Given the description of an element on the screen output the (x, y) to click on. 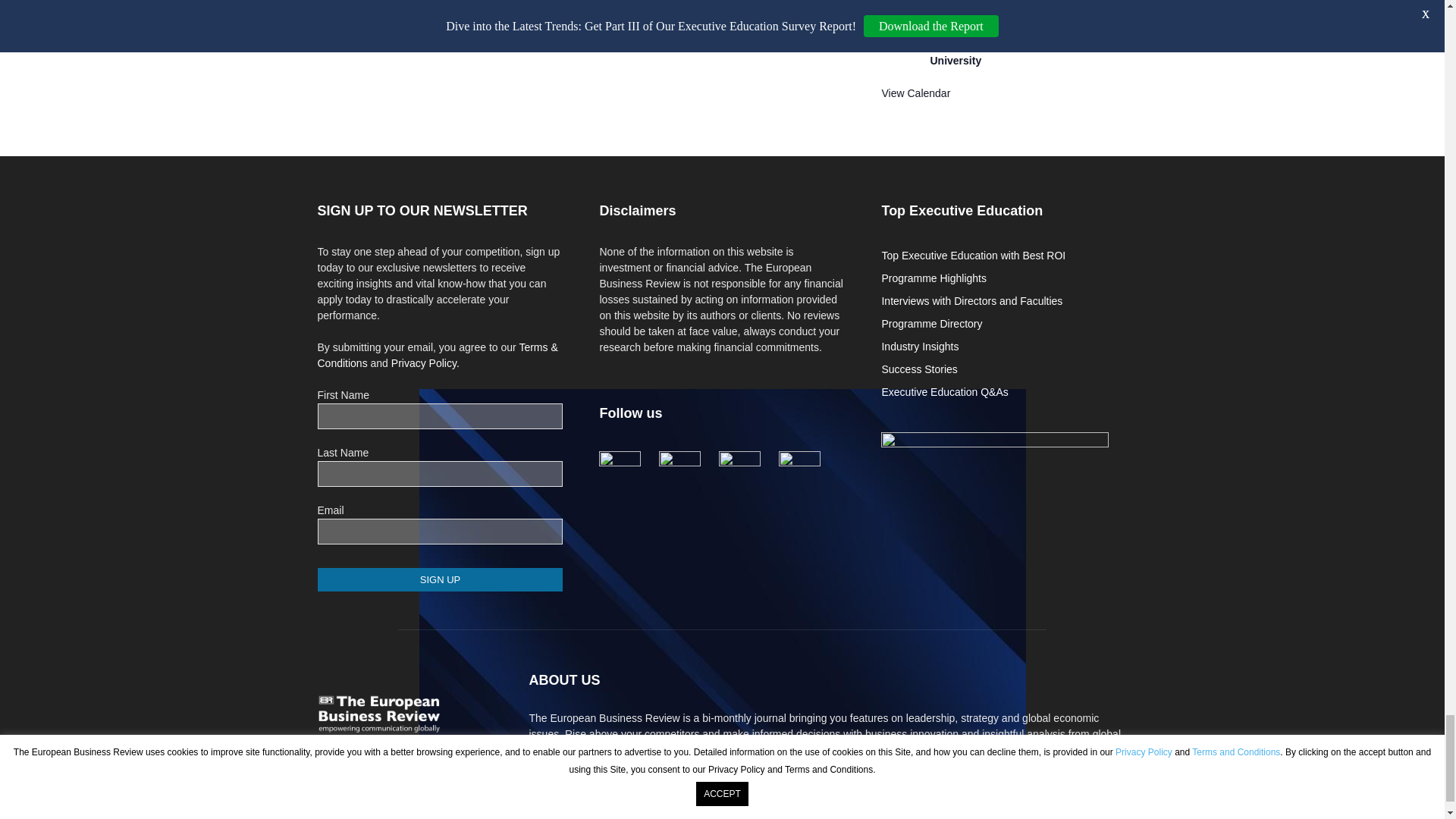
SIGN UP (439, 579)
